Given the description of an element on the screen output the (x, y) to click on. 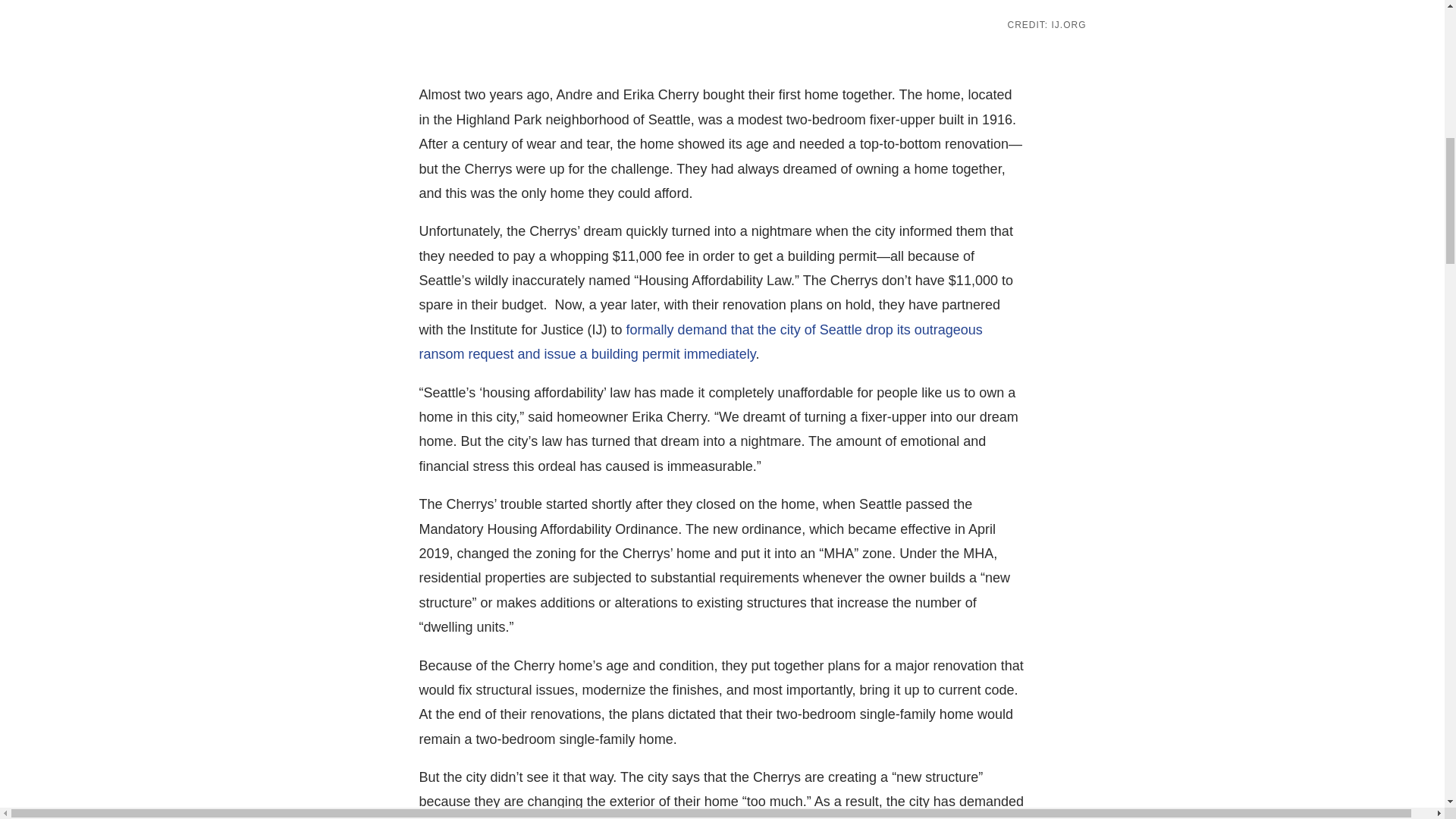
WA-Seattle-Home-Renovation-Erika-Andre-Cherry-ij (722, 8)
